Given the description of an element on the screen output the (x, y) to click on. 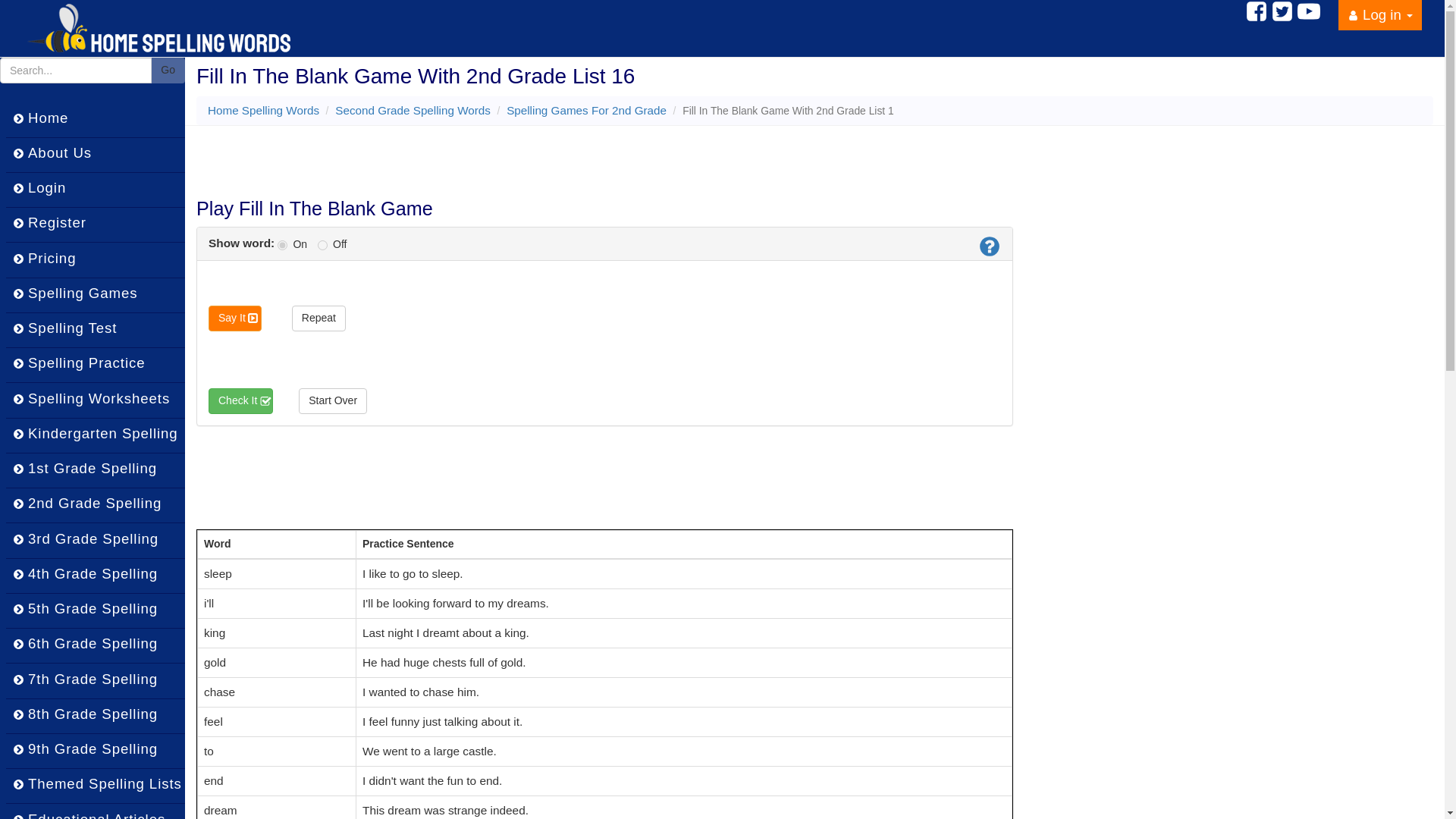
Say It (235, 318)
Kindergarten Spelling (94, 435)
5th Grade Spelling (94, 610)
1st Grade Spelling (94, 470)
7th Grade Spelling (94, 680)
Spelling Worksheets (94, 399)
Spelling Practice (94, 365)
3rd Grade Spelling (94, 540)
Pricing (94, 259)
rdoOFF (322, 245)
